Given the description of an element on the screen output the (x, y) to click on. 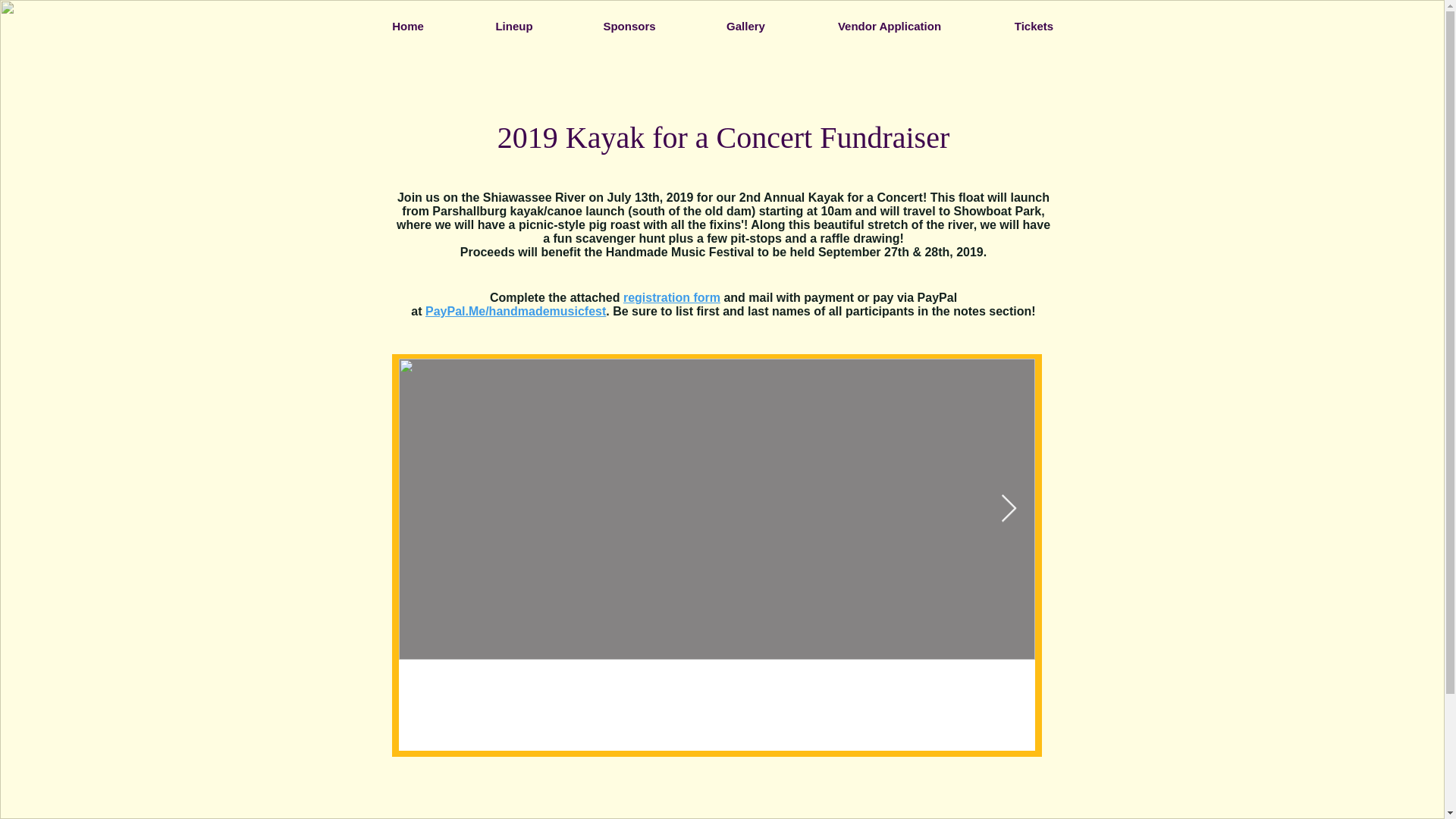
Home (407, 26)
Vendor Application (889, 26)
Lineup (514, 26)
Tickets (1033, 26)
registration form (671, 297)
Sponsors (628, 26)
Gallery (745, 26)
